Given the description of an element on the screen output the (x, y) to click on. 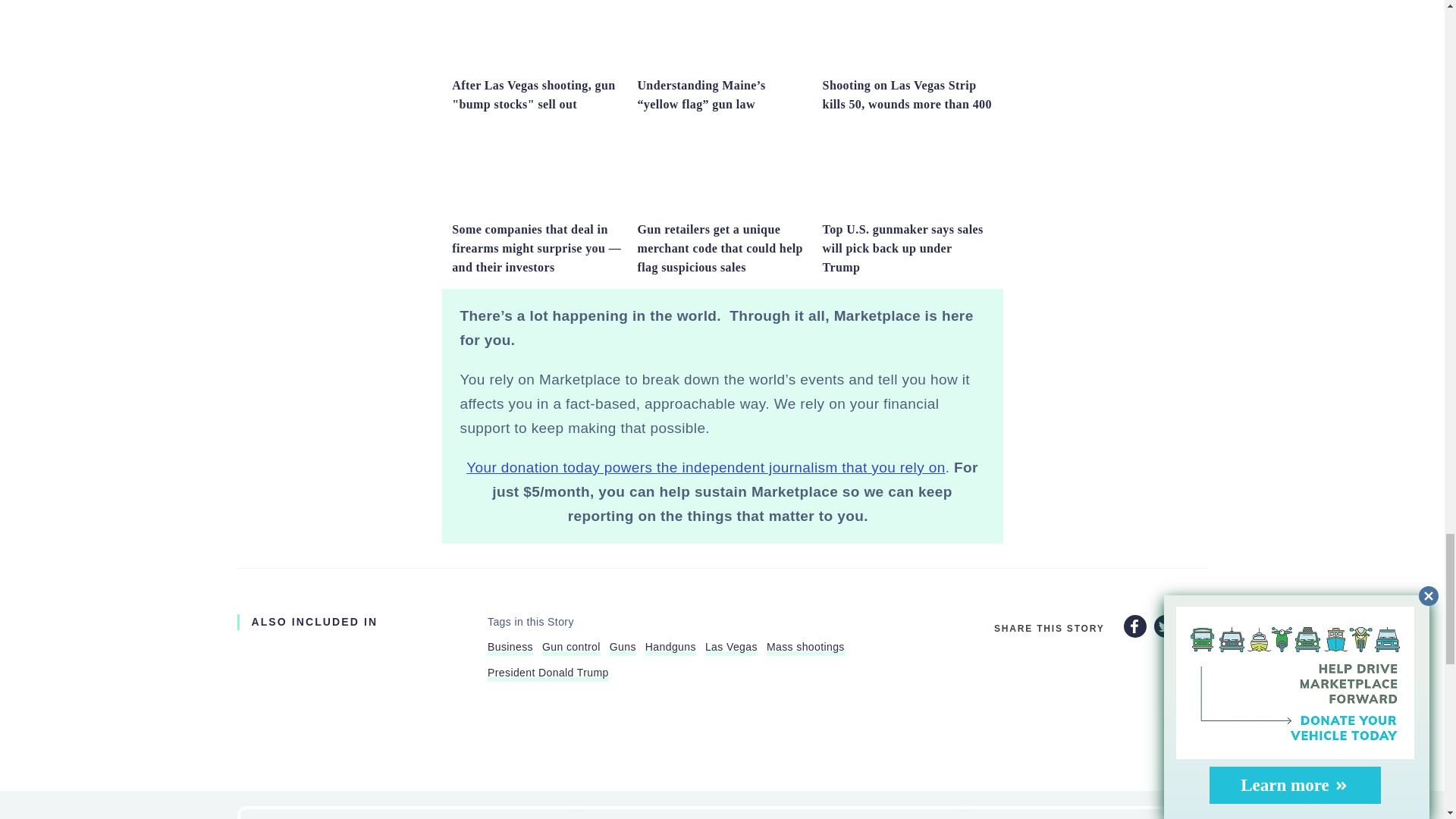
After Las Vegas shooting, gun "bump stocks" sell out (536, 63)
After Las Vegas shooting, gun "bump stocks" sell out (532, 94)
